Given the description of an element on the screen output the (x, y) to click on. 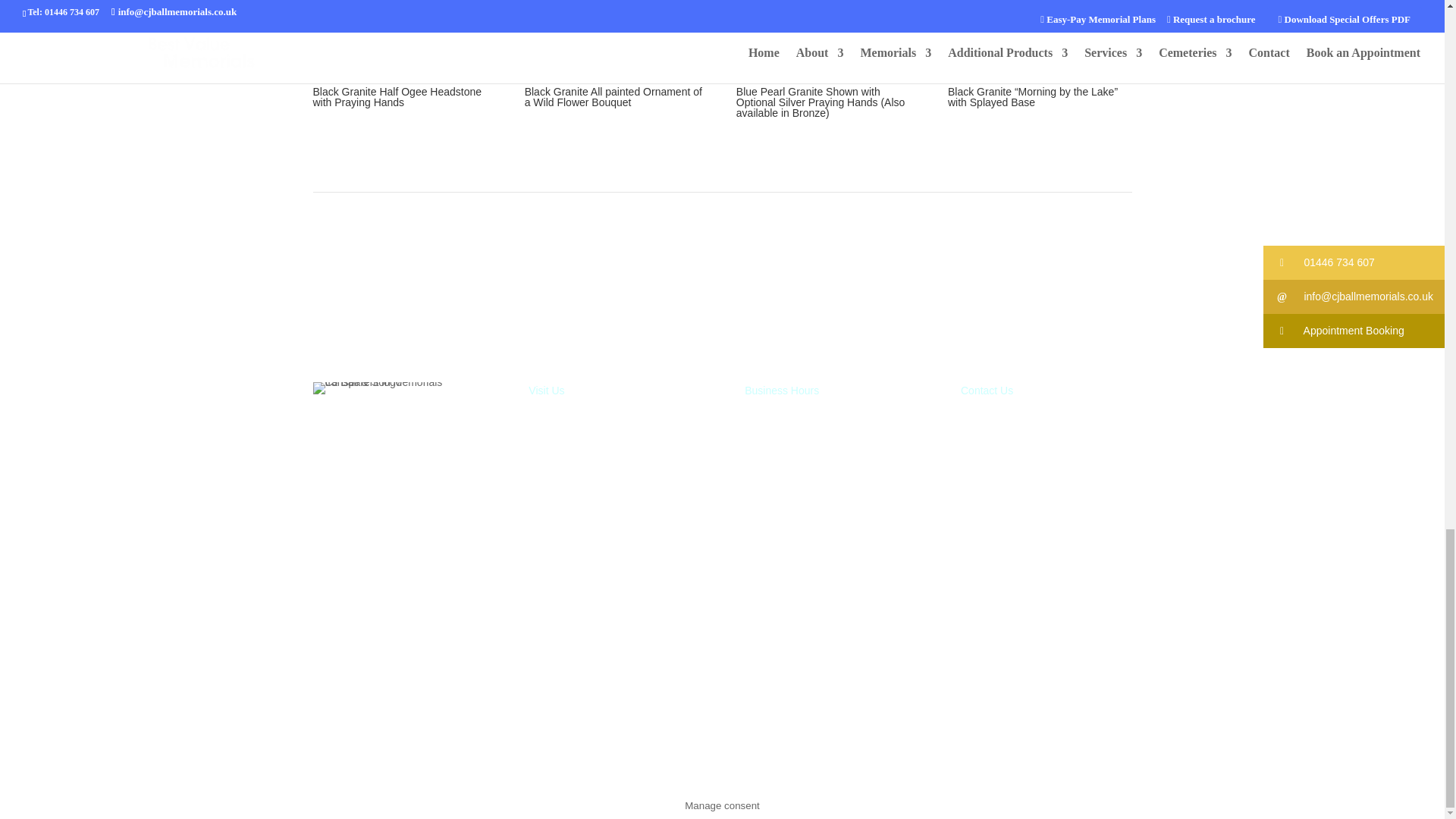
CJ 2020 Logo Hollow 2 (398, 387)
Black Granite Half Ogee Headstone with Praying Hands (403, 37)
Blue Pearl Granite Shown with Optional Silver Praying Hands (826, 37)
Black Granite All painted Ornament of a Wild Flower Bouquet (614, 37)
